Given the description of an element on the screen output the (x, y) to click on. 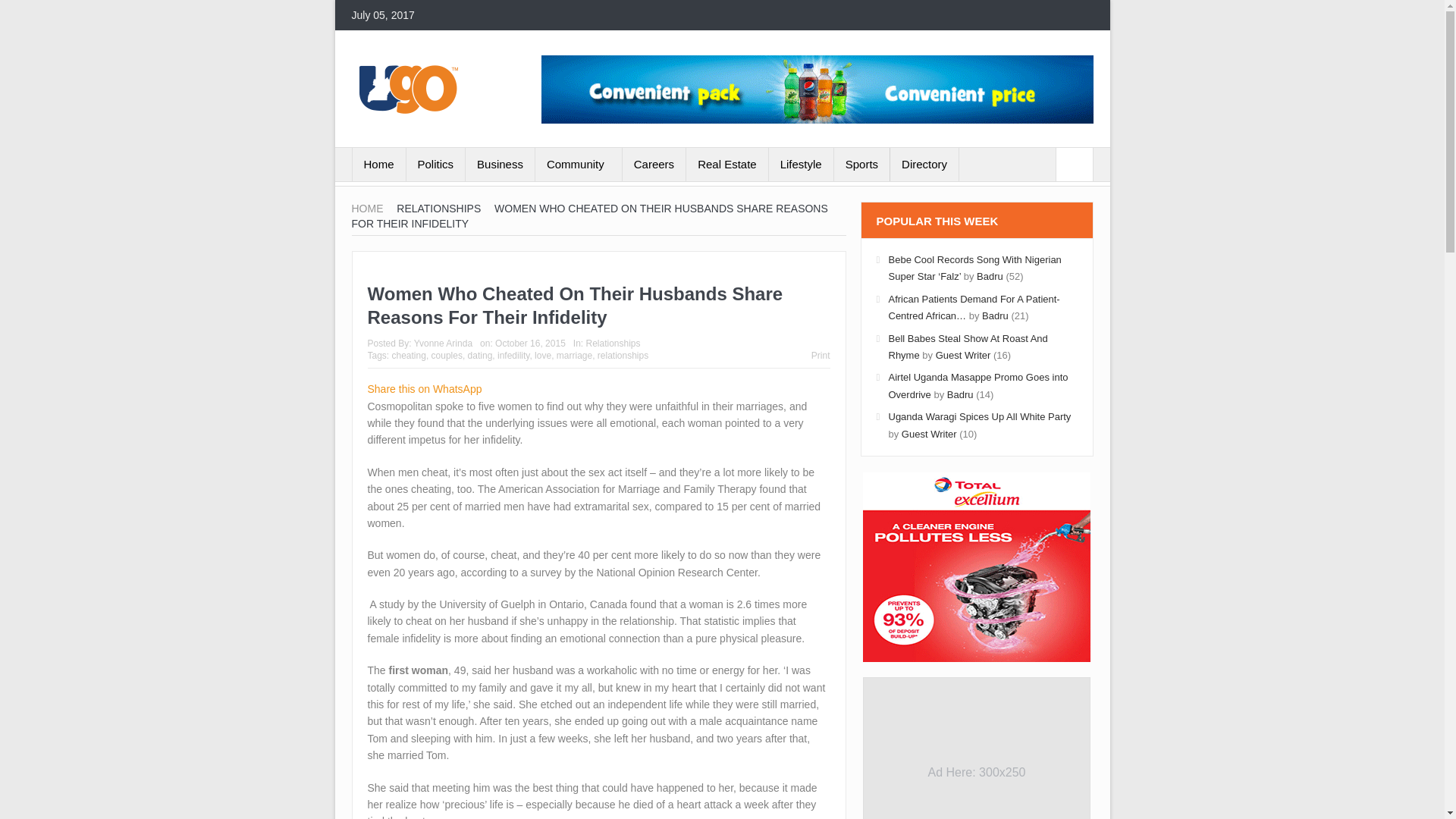
Yvonne Arinda (442, 343)
love (542, 355)
Sports (861, 164)
Politics (435, 164)
Print (819, 355)
Lifestyle (800, 164)
View all posts in cheating (408, 355)
Home (378, 164)
View all posts in couples (446, 355)
couples (446, 355)
marriage (574, 355)
Careers (654, 164)
View all posts in marriage (574, 355)
relationships (621, 355)
HOME (368, 208)
